Given the description of an element on the screen output the (x, y) to click on. 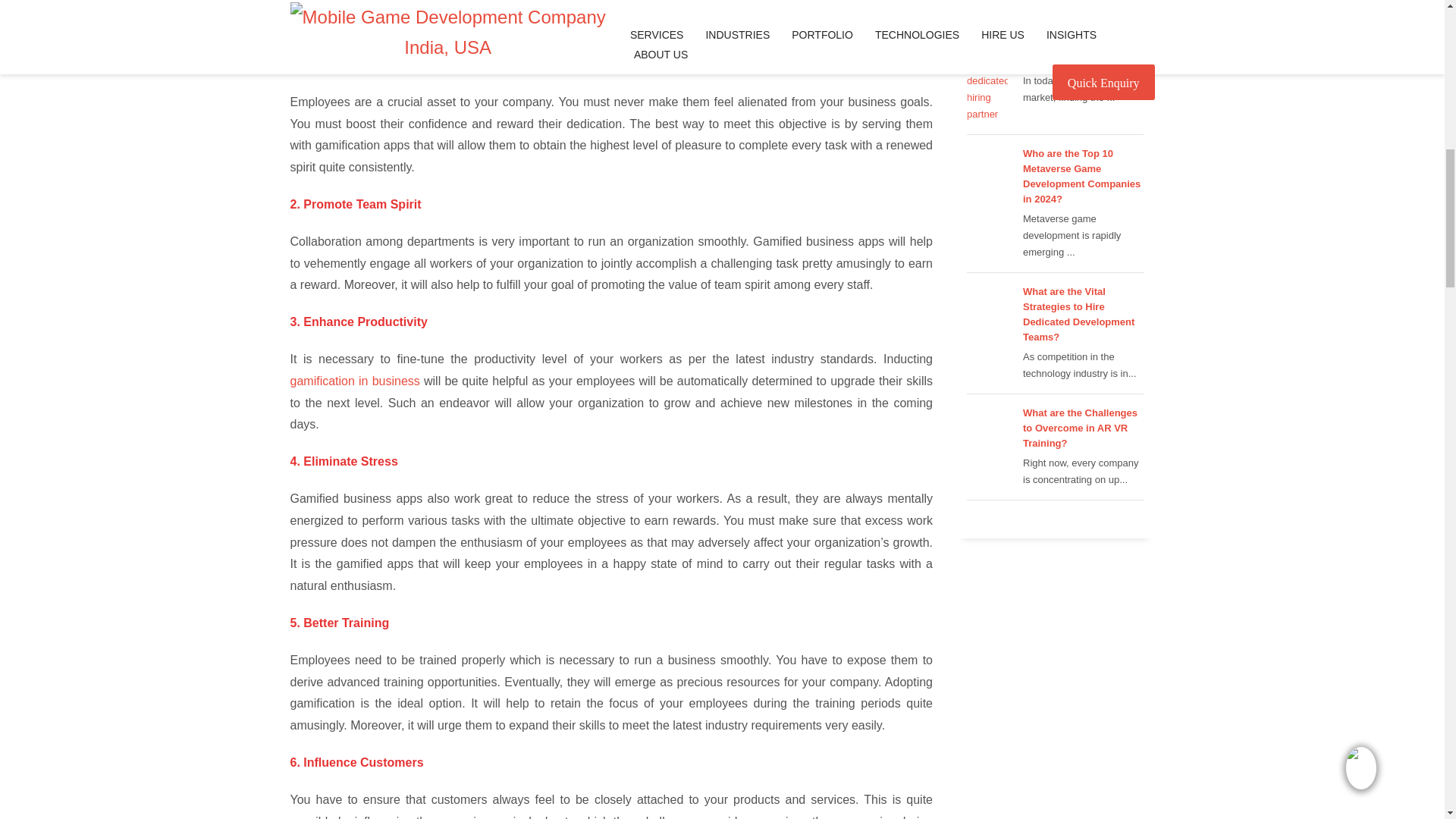
How to Choose the Right Dedicated Hiring Partner? (1081, 45)
